Given the description of an element on the screen output the (x, y) to click on. 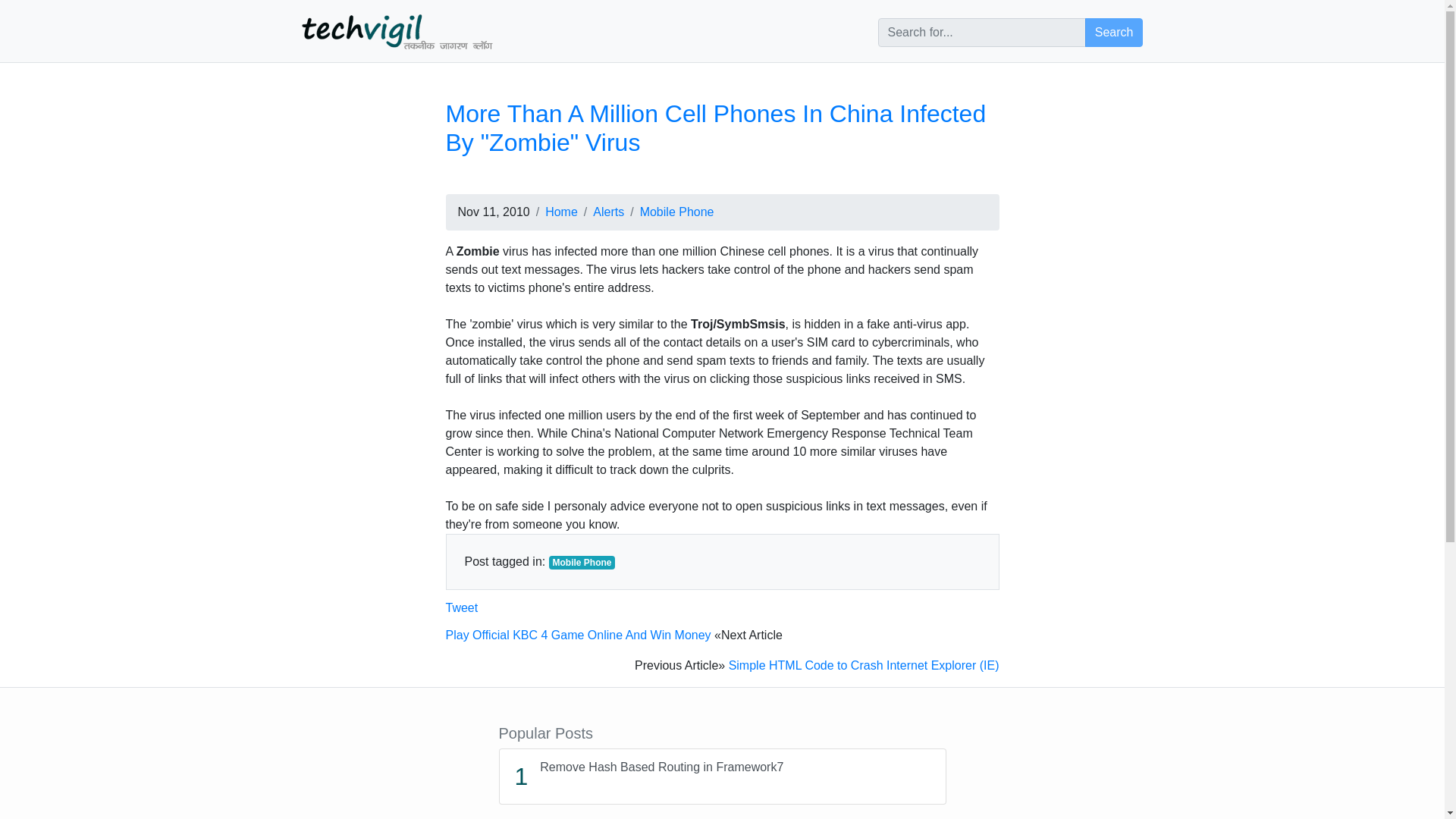
Home (561, 212)
Play Official KBC 4 Game Online And Win Money (578, 634)
Mobile Phone (581, 562)
Technology Vigil Blog (397, 29)
Mobile Phone (677, 212)
More Than A Million Cell Phones In China Infected By  (722, 776)
Alerts (716, 127)
Tweet (608, 212)
Search (462, 607)
